Given the description of an element on the screen output the (x, y) to click on. 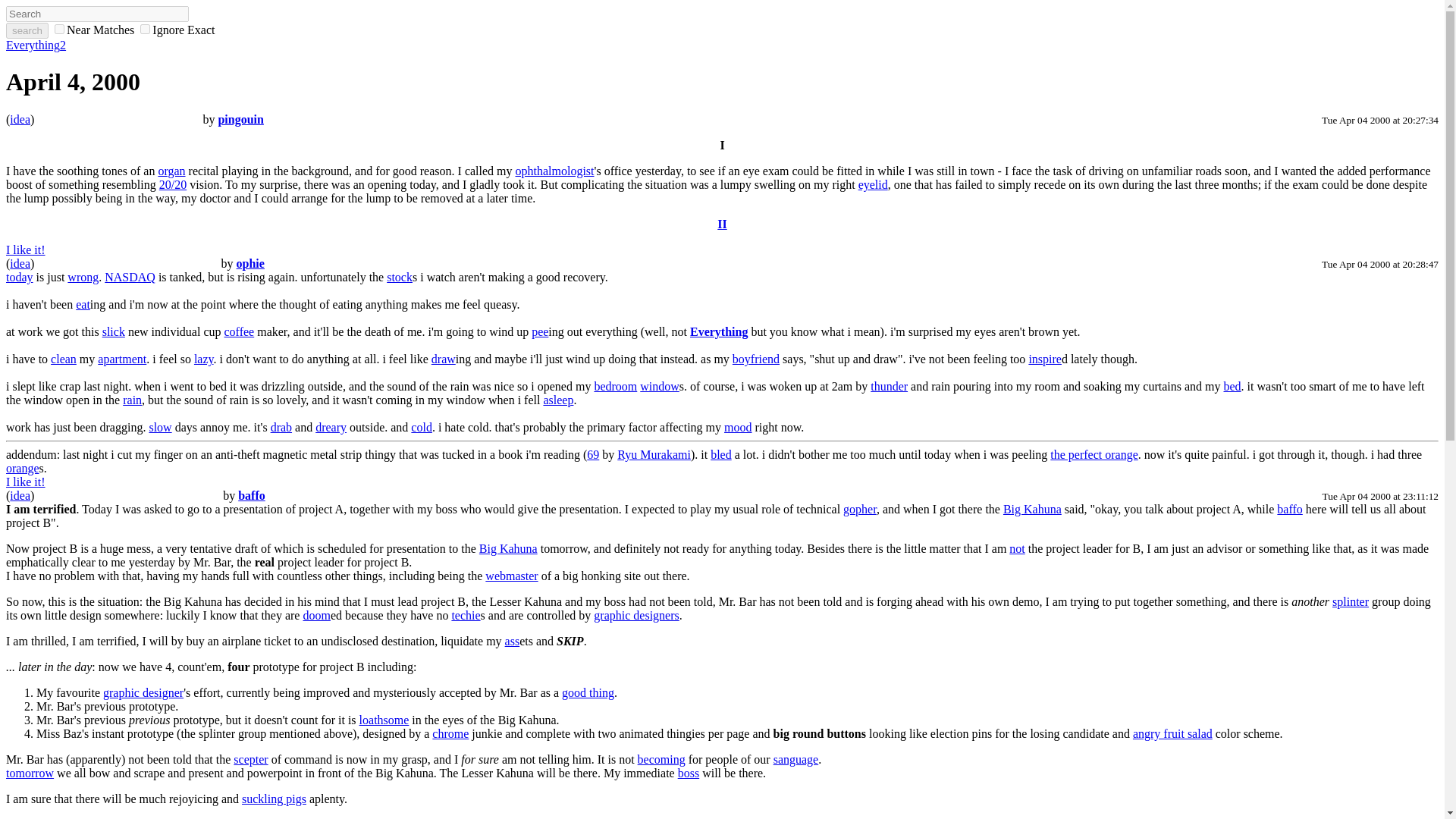
eat (82, 304)
pingouin (239, 119)
1 (144, 29)
ophie (249, 263)
apartment (122, 358)
Everything (719, 331)
thunder (888, 386)
today (19, 277)
bed (1231, 386)
I like it! (25, 249)
wrong (82, 277)
coffee (239, 331)
Search within Everything2 (26, 30)
eyelid (873, 184)
Include near matches in the search results (91, 29)
